Given the description of an element on the screen output the (x, y) to click on. 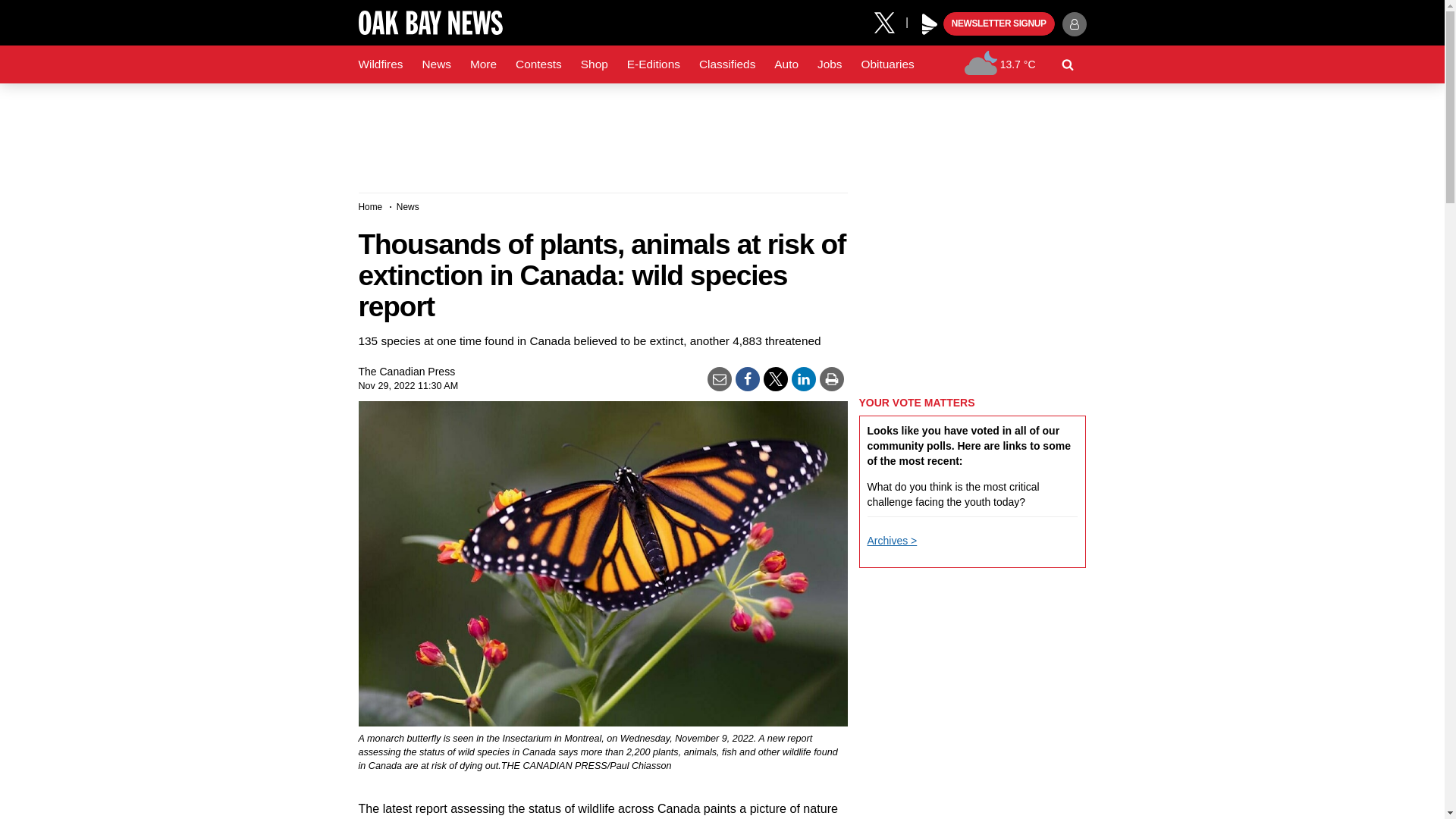
Black Press Media (929, 24)
Play (929, 24)
News (435, 64)
NEWSLETTER SIGNUP (998, 24)
X (889, 21)
Wildfires (380, 64)
